Given the description of an element on the screen output the (x, y) to click on. 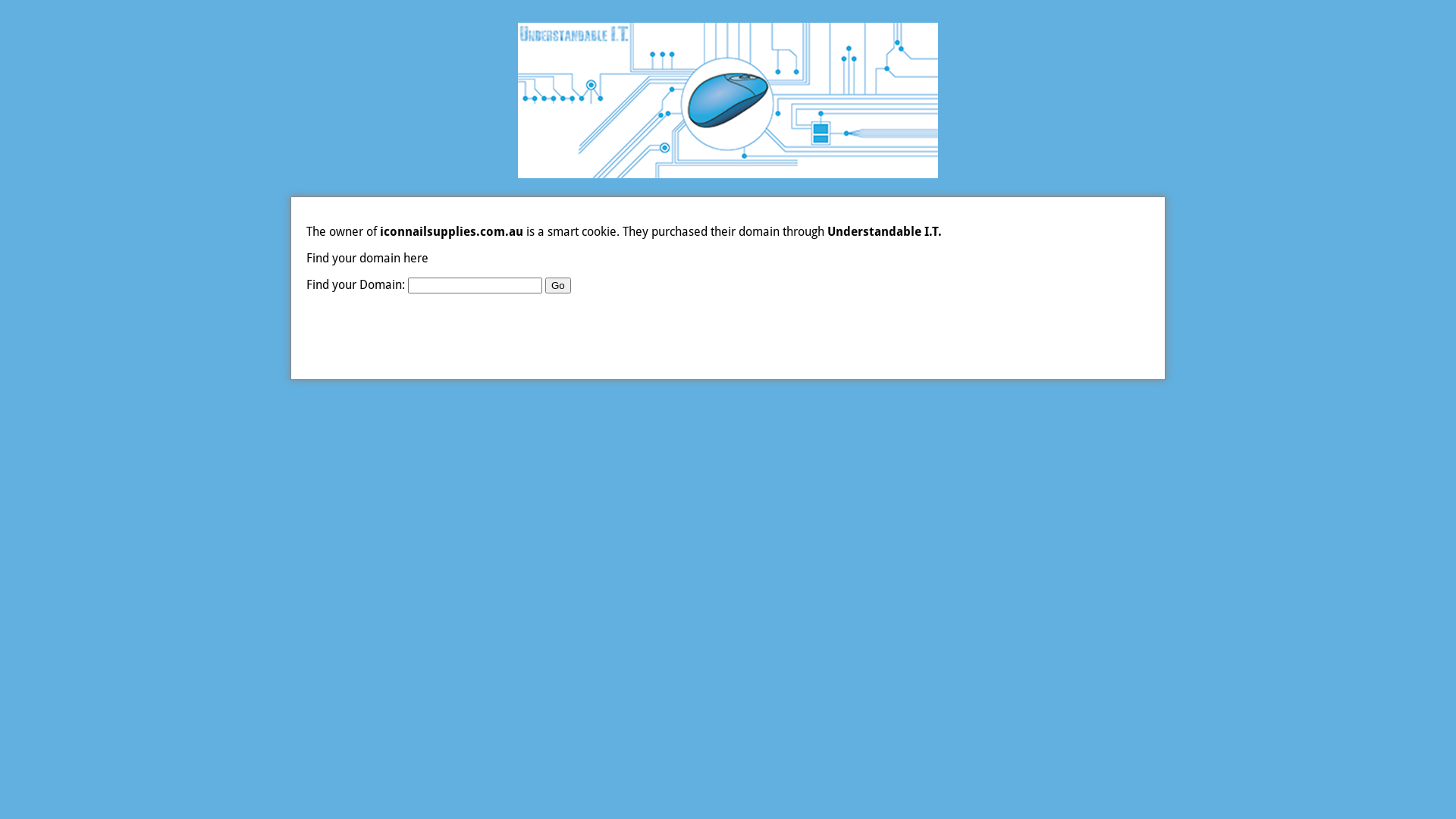
Understandable I.T. Element type: text (884, 231)
Go Element type: text (558, 285)
